Given the description of an element on the screen output the (x, y) to click on. 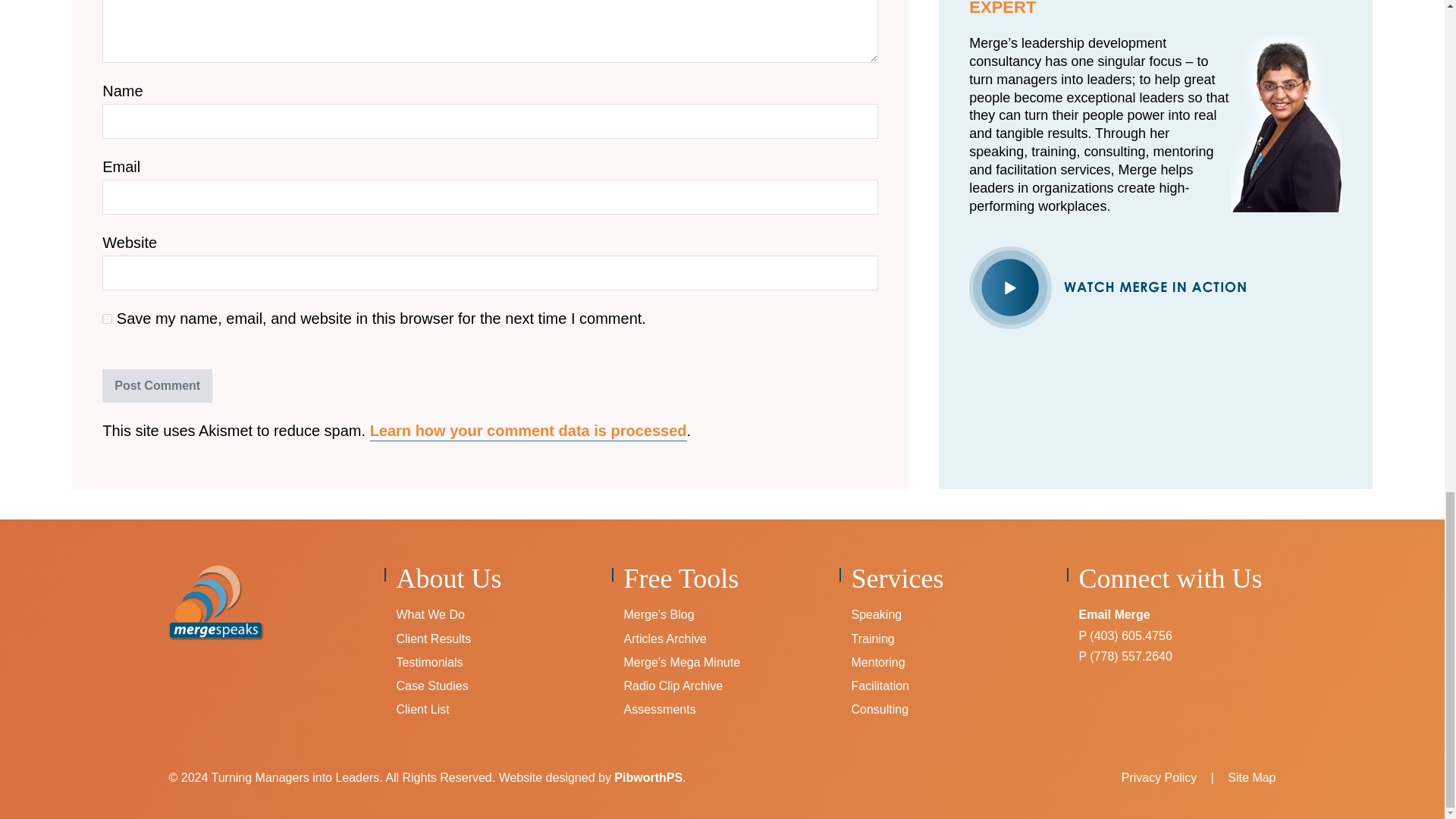
yes (106, 318)
merge-speaks-logo (215, 602)
Post Comment (156, 385)
